Given the description of an element on the screen output the (x, y) to click on. 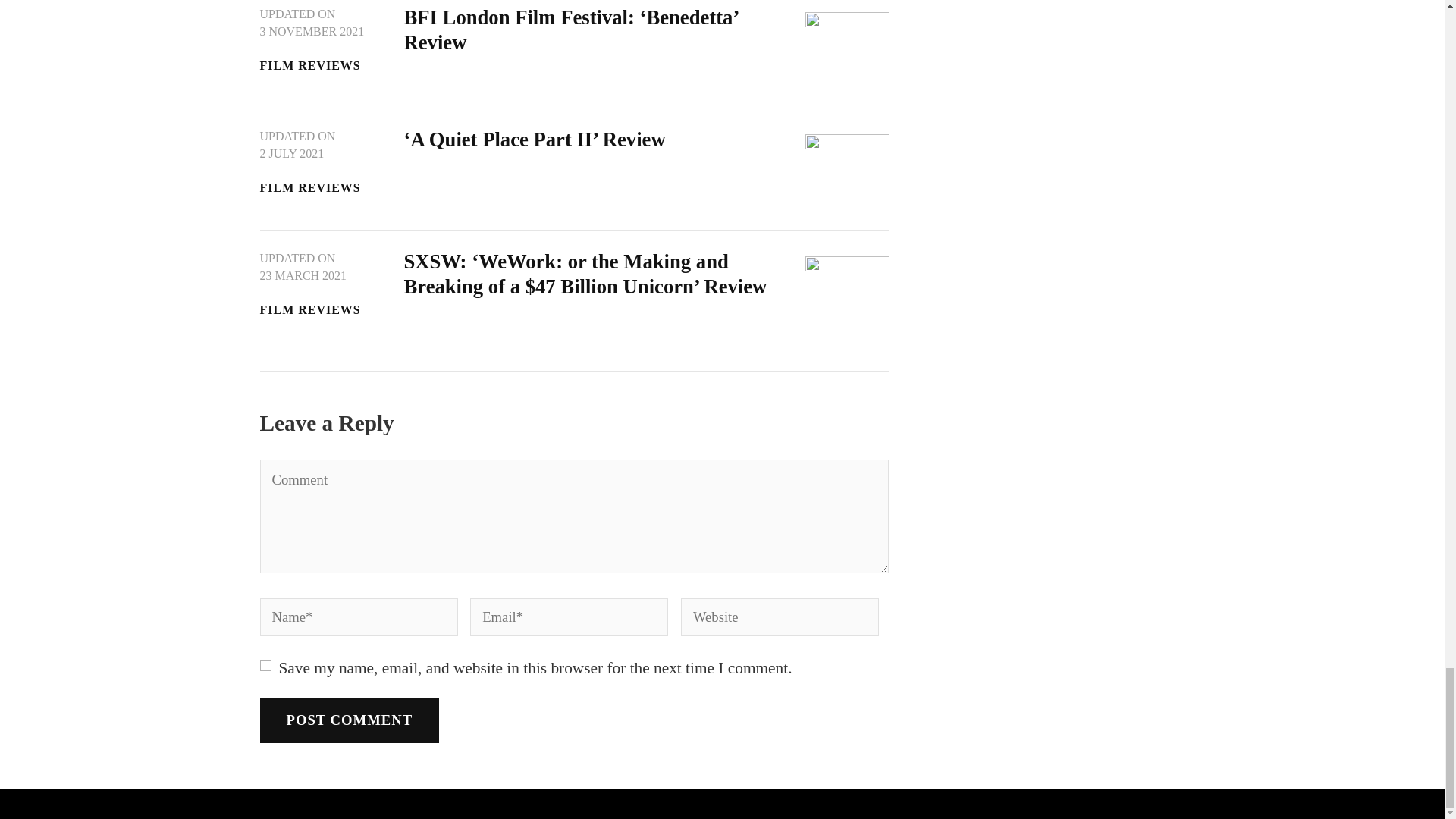
2 JULY 2021 (291, 153)
FILM REVIEWS (309, 188)
FILM REVIEWS (309, 65)
3 NOVEMBER 2021 (311, 31)
Post Comment (349, 720)
